Given the description of an element on the screen output the (x, y) to click on. 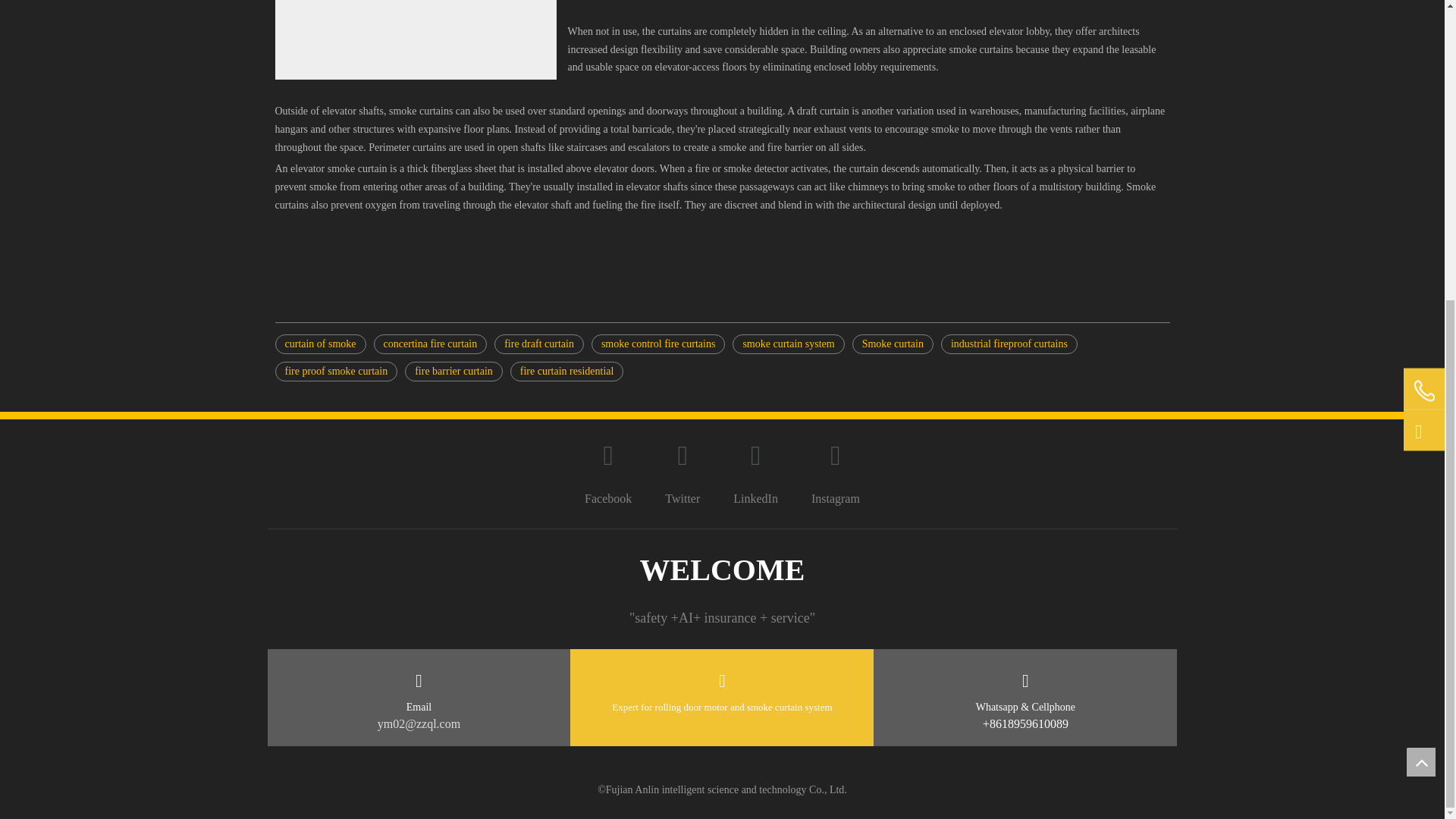
Smoke curtain (892, 343)
fire curtain residential (567, 371)
fire proof smoke curtain (336, 371)
industrial fireproof curtains (1008, 343)
smoke control fire curtains (658, 343)
concertina fire curtain (430, 343)
curtain of smoke (320, 343)
fire barrier curtain (453, 371)
fire draft curtain (539, 343)
smoke curtain system (788, 343)
